Given the description of an element on the screen output the (x, y) to click on. 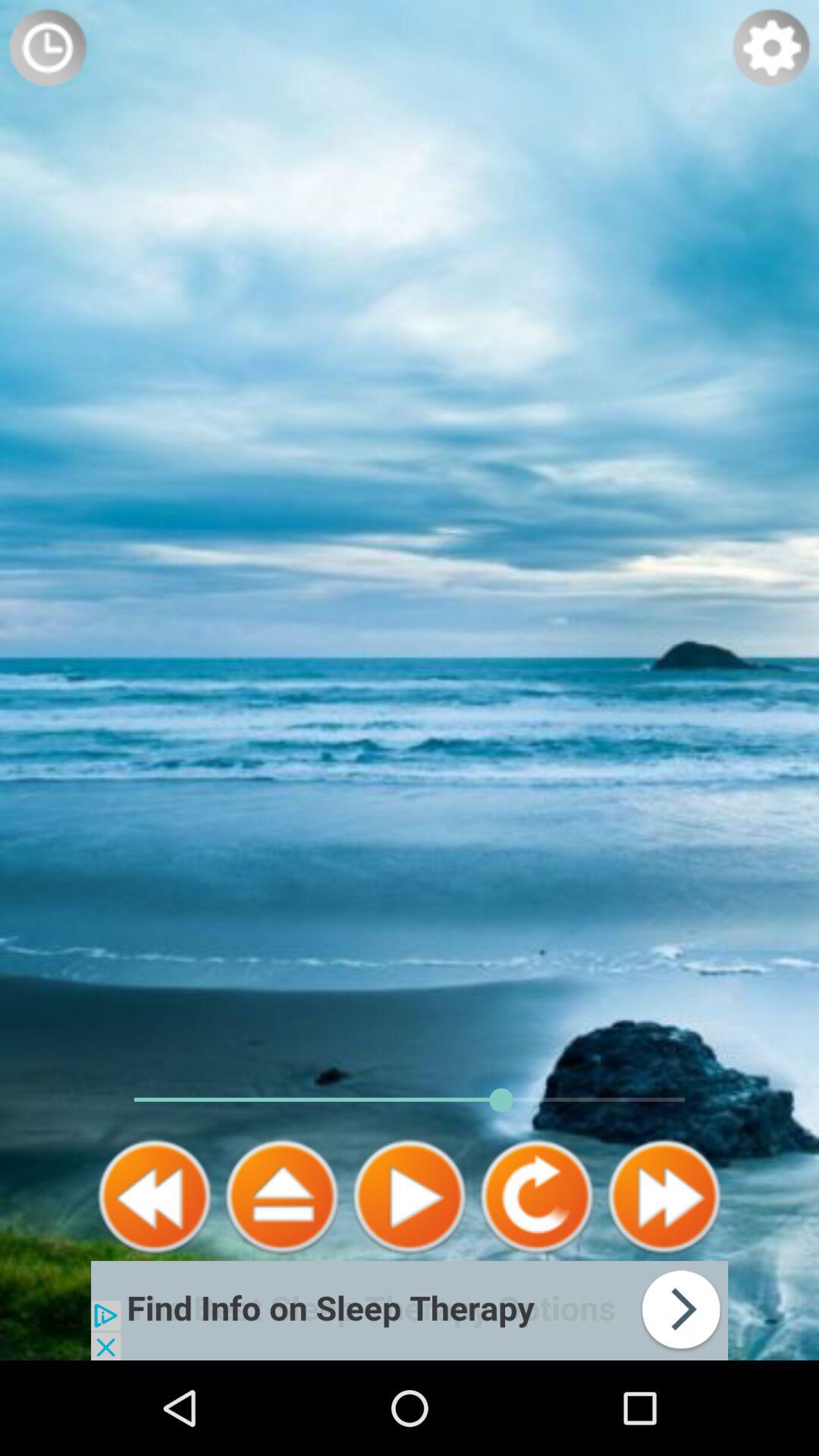
open clock (47, 47)
